Given the description of an element on the screen output the (x, y) to click on. 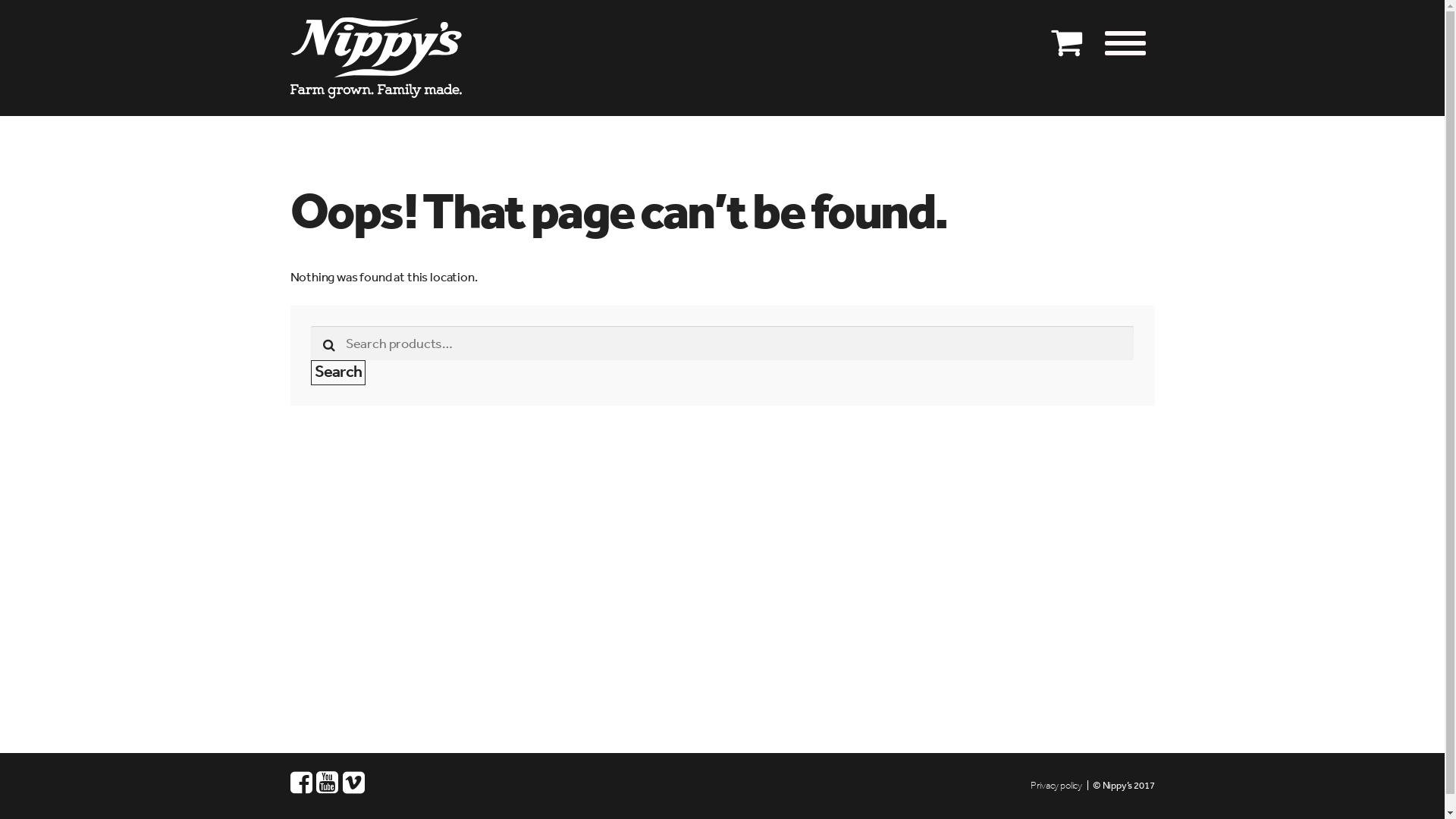
Privacy policy Element type: text (1056, 784)
View your shopping cart Element type: hover (1066, 31)
Nippy's Element type: text (383, 57)
Search Element type: text (337, 372)
Skip to navigation Element type: text (289, 16)
